Given the description of an element on the screen output the (x, y) to click on. 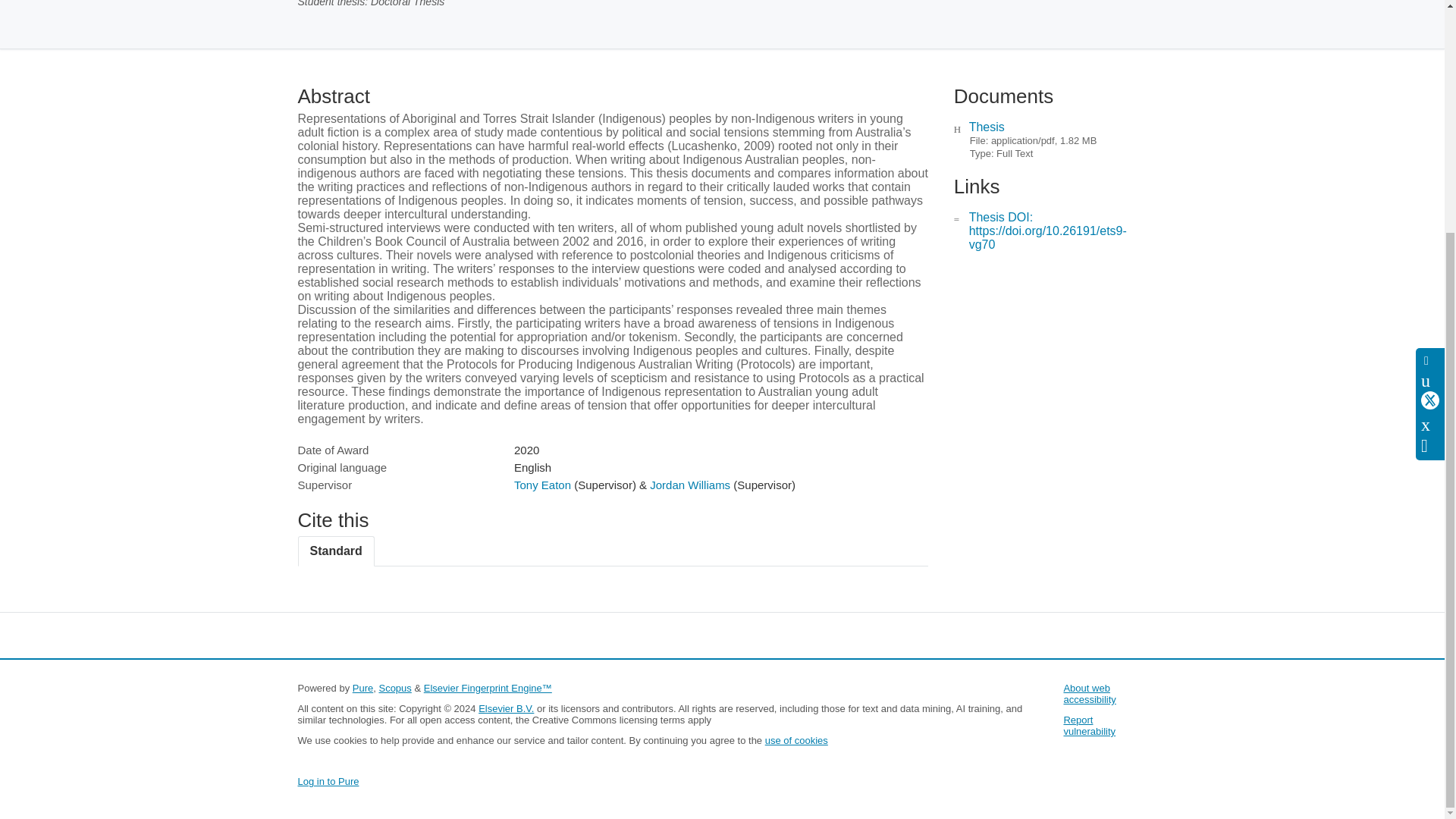
Log in to Pure (327, 781)
Scopus (394, 687)
About web accessibility (1088, 693)
Thesis (986, 126)
Tony Eaton (541, 484)
Elsevier B.V. (506, 708)
Pure (362, 687)
Jordan Williams (689, 484)
use of cookies (796, 740)
Report vulnerability (1088, 725)
